Given the description of an element on the screen output the (x, y) to click on. 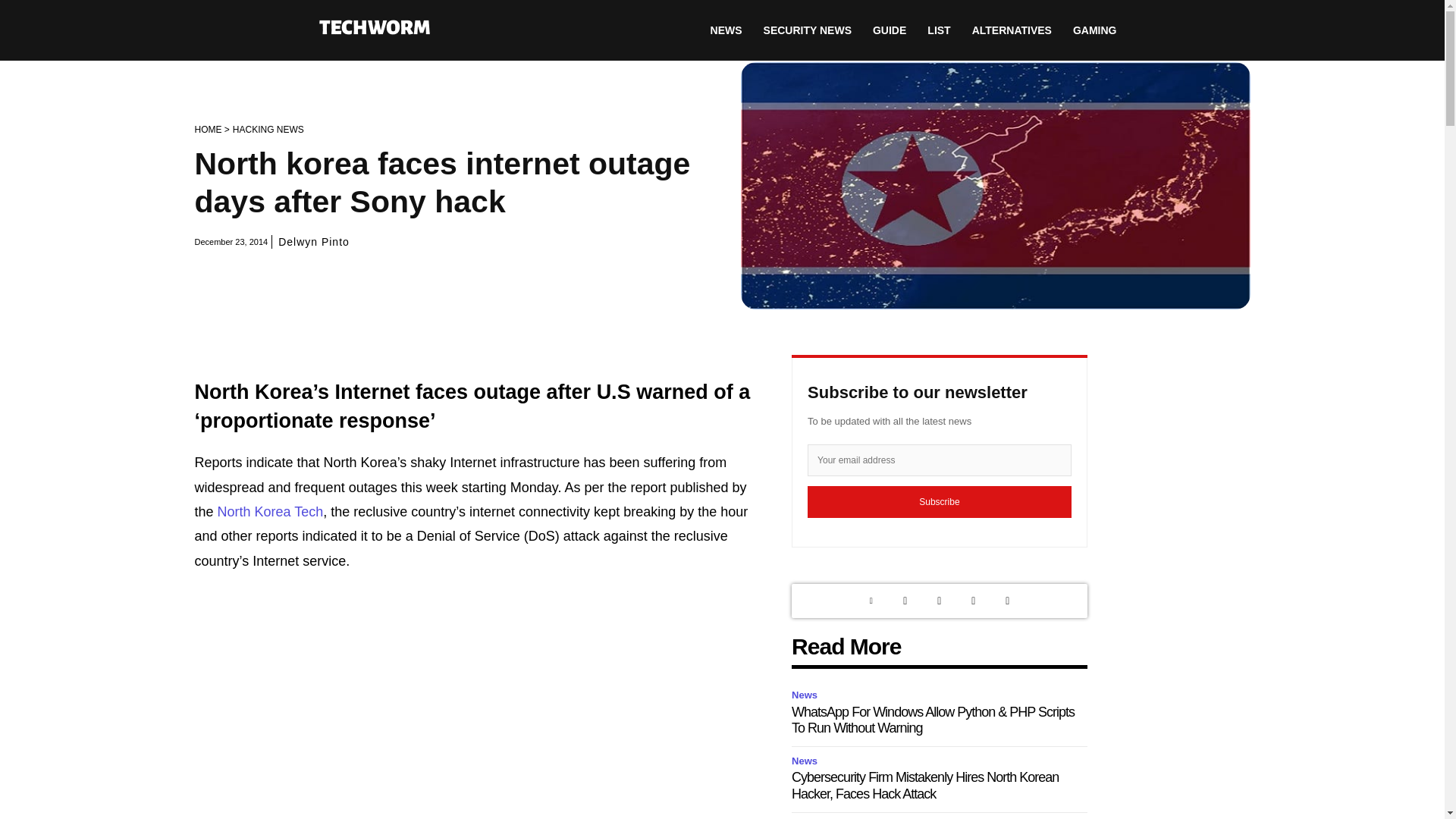
Youtube (1007, 601)
Linkedin (870, 601)
Twitter (904, 601)
GUIDE (889, 30)
North korea faces internet outage days after Sony hack (994, 185)
GAMING (1094, 30)
Instagram (939, 601)
SECURITY NEWS (806, 30)
Facebook (973, 601)
View all posts in Hacking News (268, 129)
Delwyn Pinto (313, 241)
HACKING NEWS (268, 129)
Subscribe (939, 501)
ALTERNATIVES (1011, 30)
North Korea Tech (269, 511)
